Given the description of an element on the screen output the (x, y) to click on. 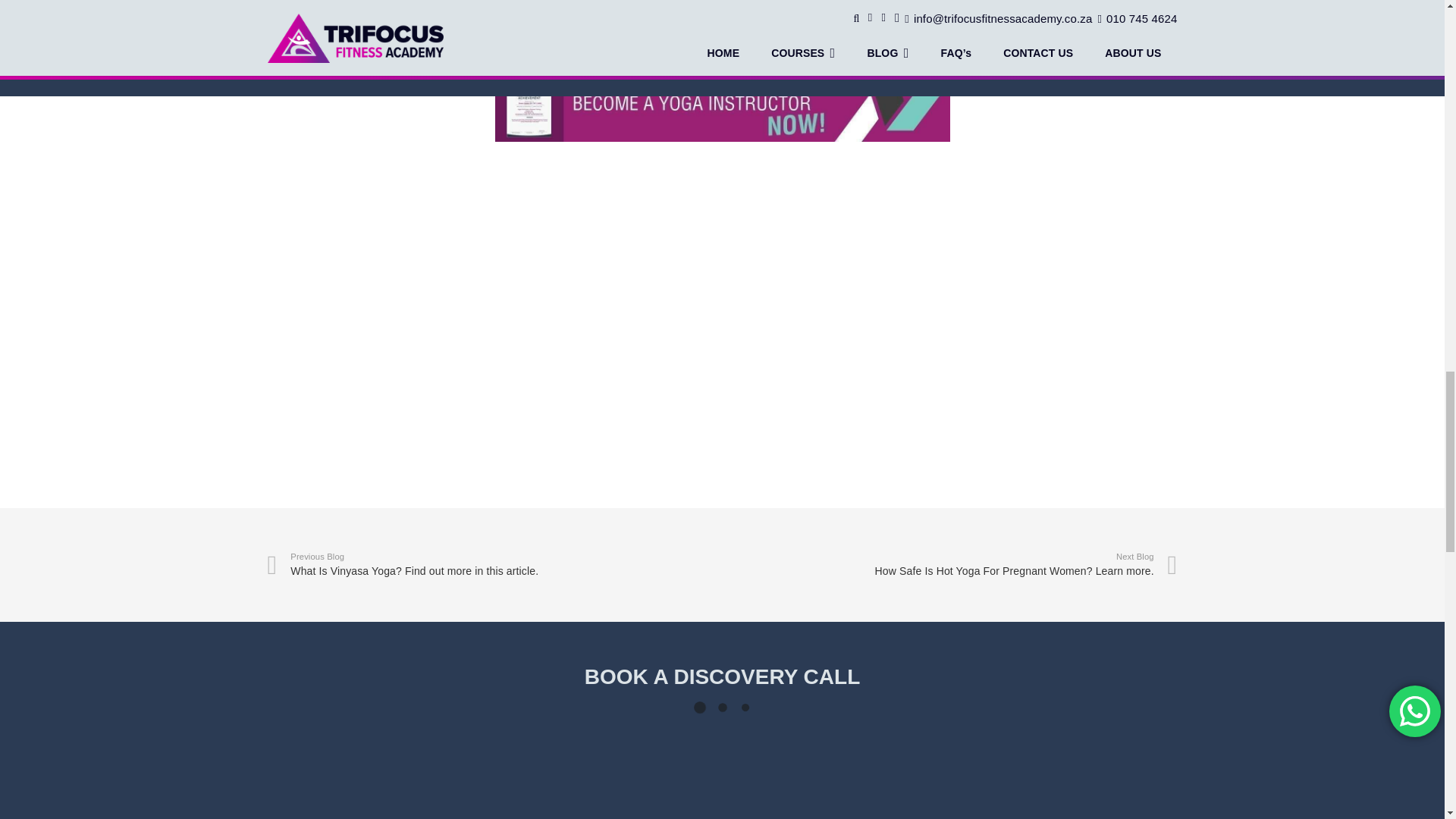
How Safe Is Hot Yoga For Pregnant Women? Learn more. (949, 564)
Yoga (509, 325)
What Is Vinyasa Yoga? Find out more in this article. (494, 564)
